Given the description of an element on the screen output the (x, y) to click on. 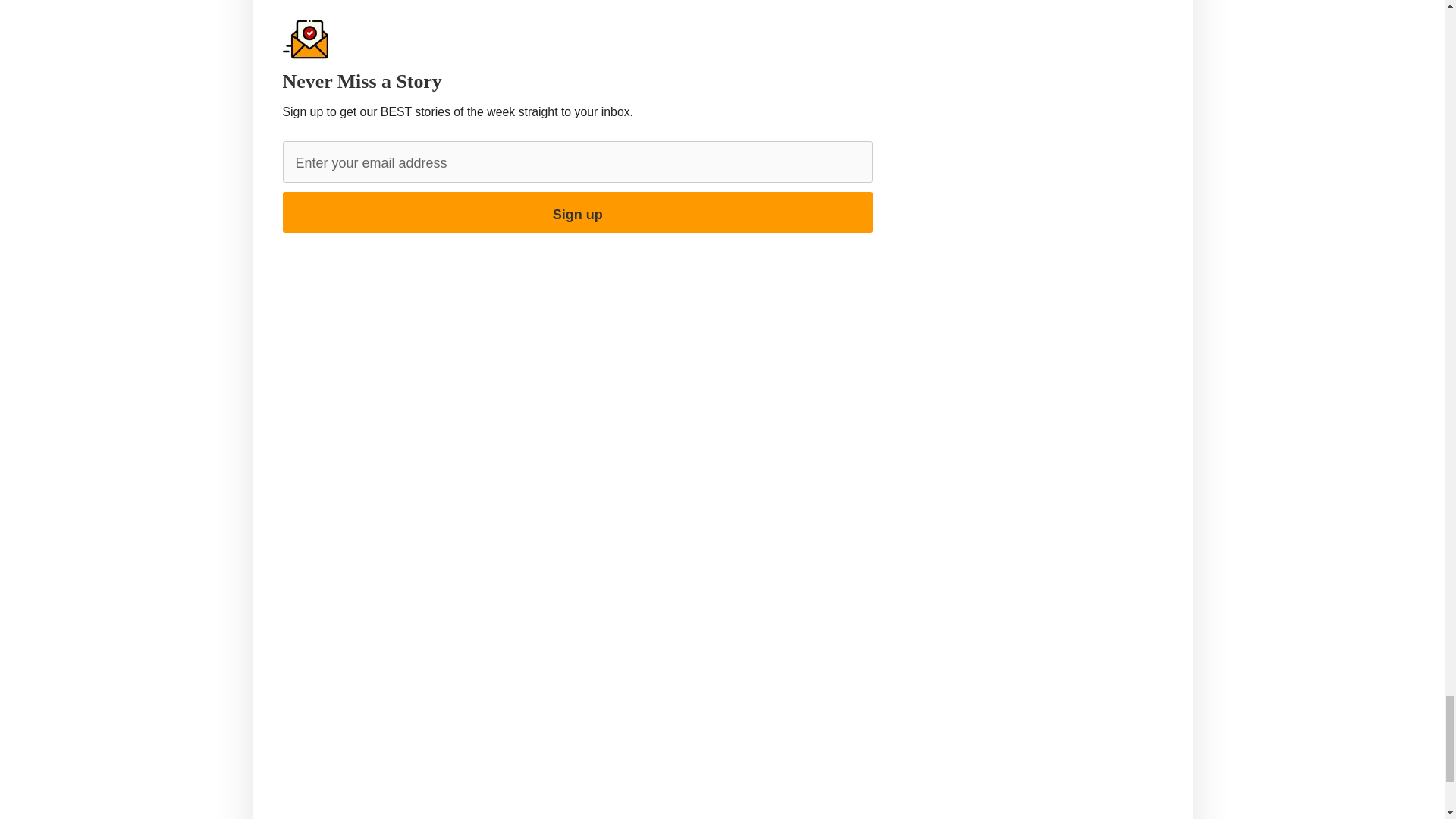
Sign up (577, 211)
